Given the description of an element on the screen output the (x, y) to click on. 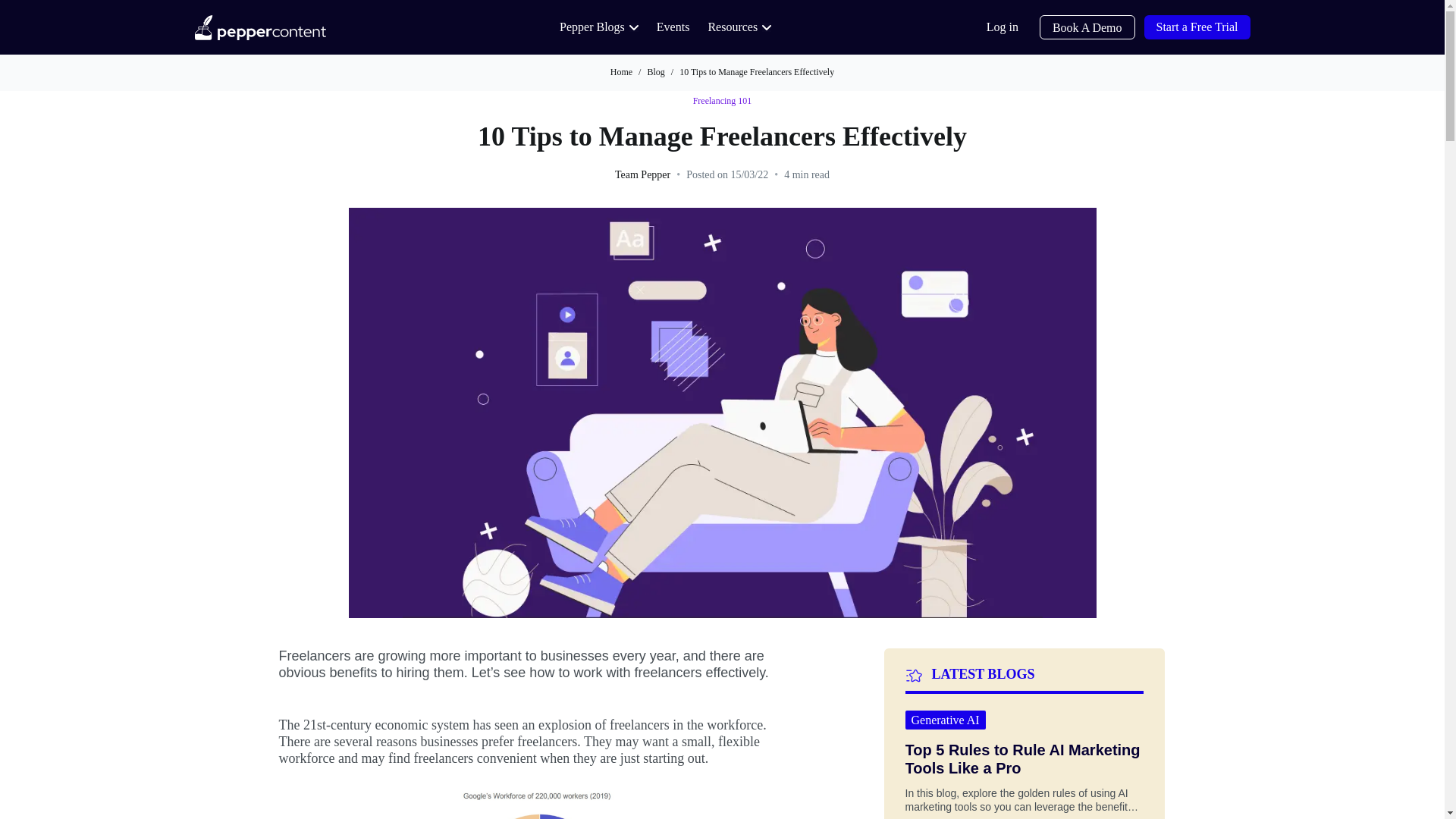
Blog (654, 71)
Resources (739, 27)
Home (620, 71)
Freelancing 101 (722, 101)
Book A Demo (1087, 27)
Start a Free Trial (1195, 27)
Homepage (259, 27)
Pepper Blogs (599, 27)
Log in (1002, 27)
